Given the description of an element on the screen output the (x, y) to click on. 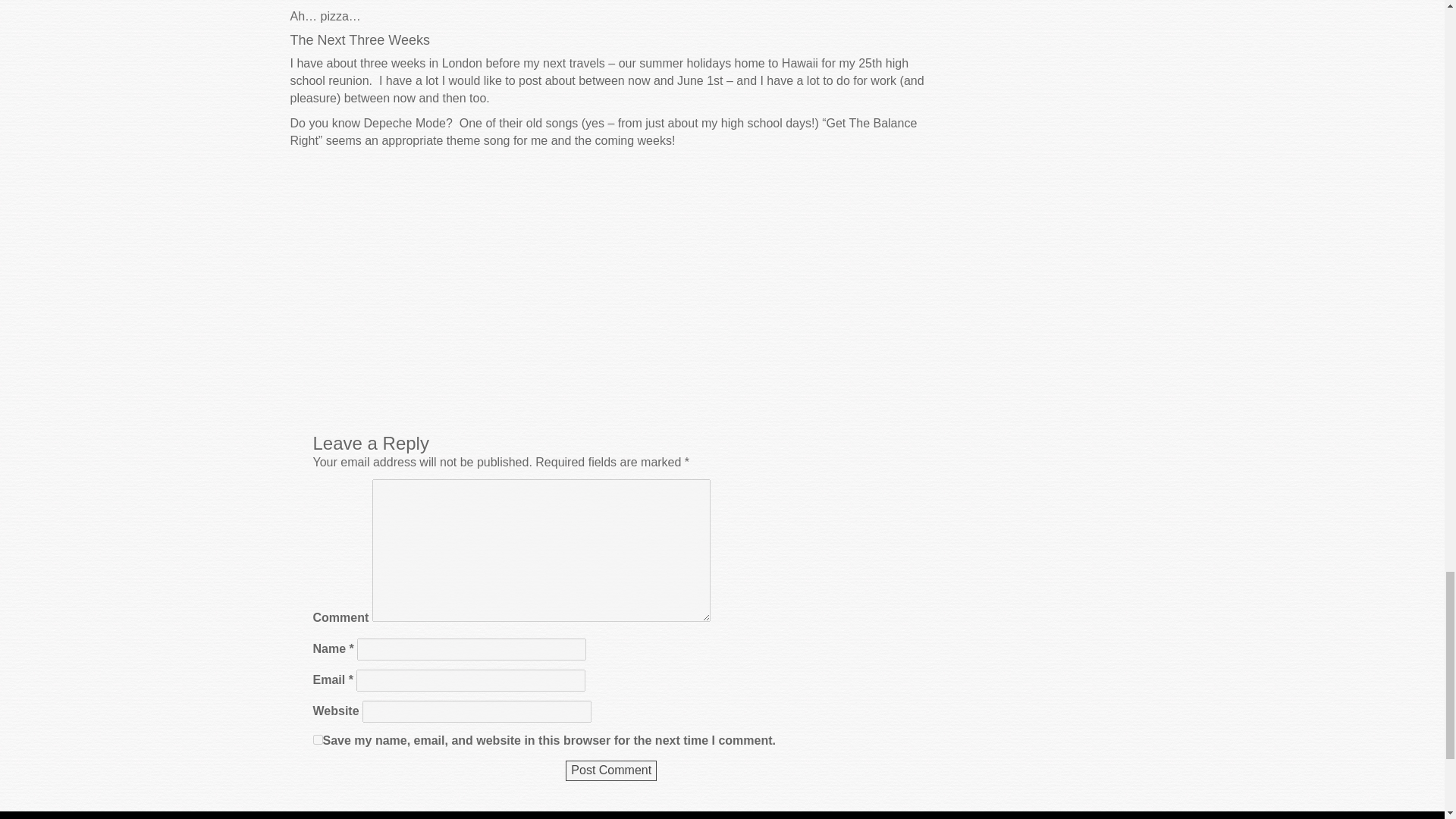
Post Comment (611, 770)
yes (317, 739)
Post Comment (611, 770)
